Given the description of an element on the screen output the (x, y) to click on. 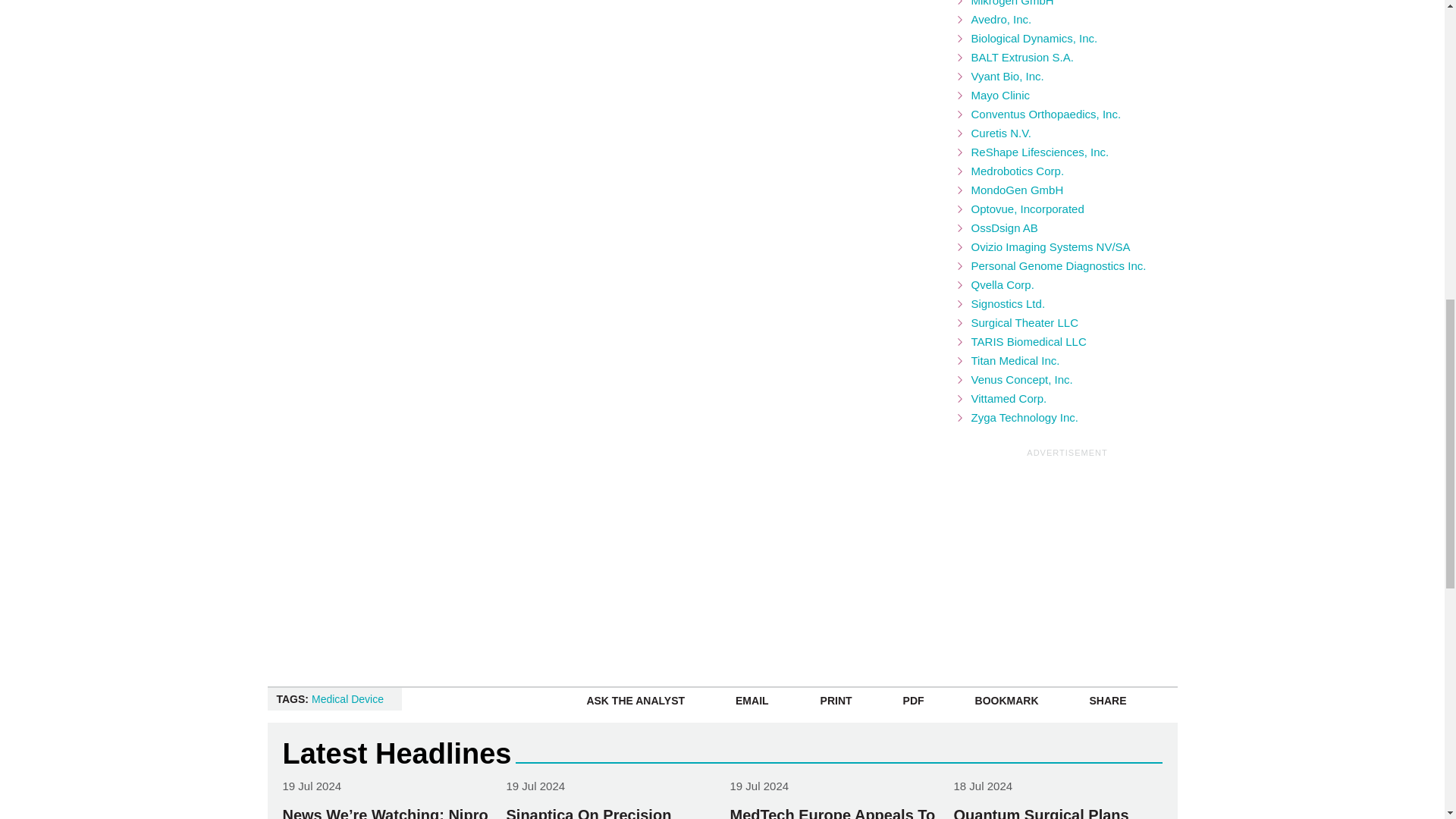
3rd party ad content (1070, 555)
